Given the description of an element on the screen output the (x, y) to click on. 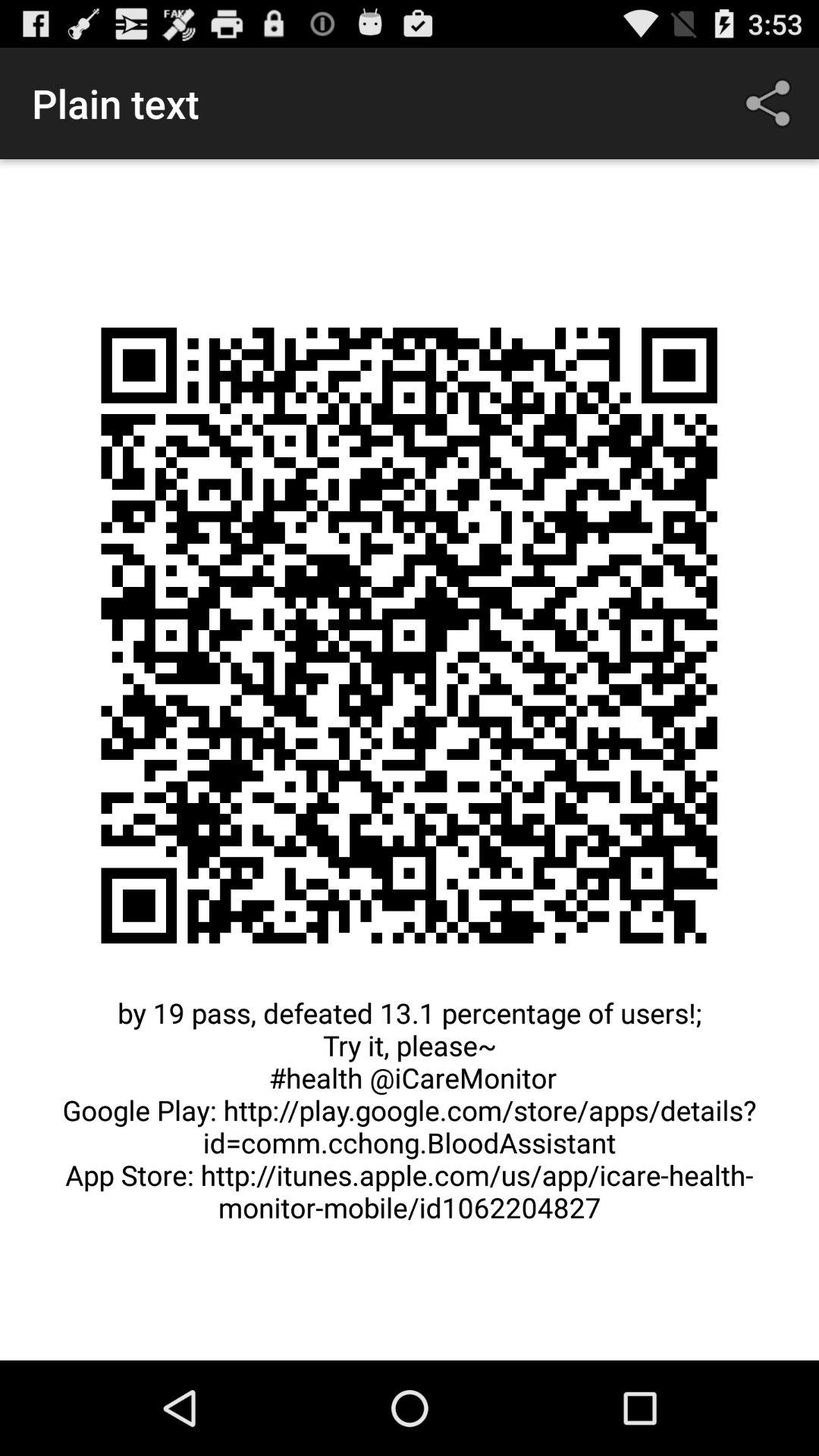
select item at the bottom (409, 1118)
